Given the description of an element on the screen output the (x, y) to click on. 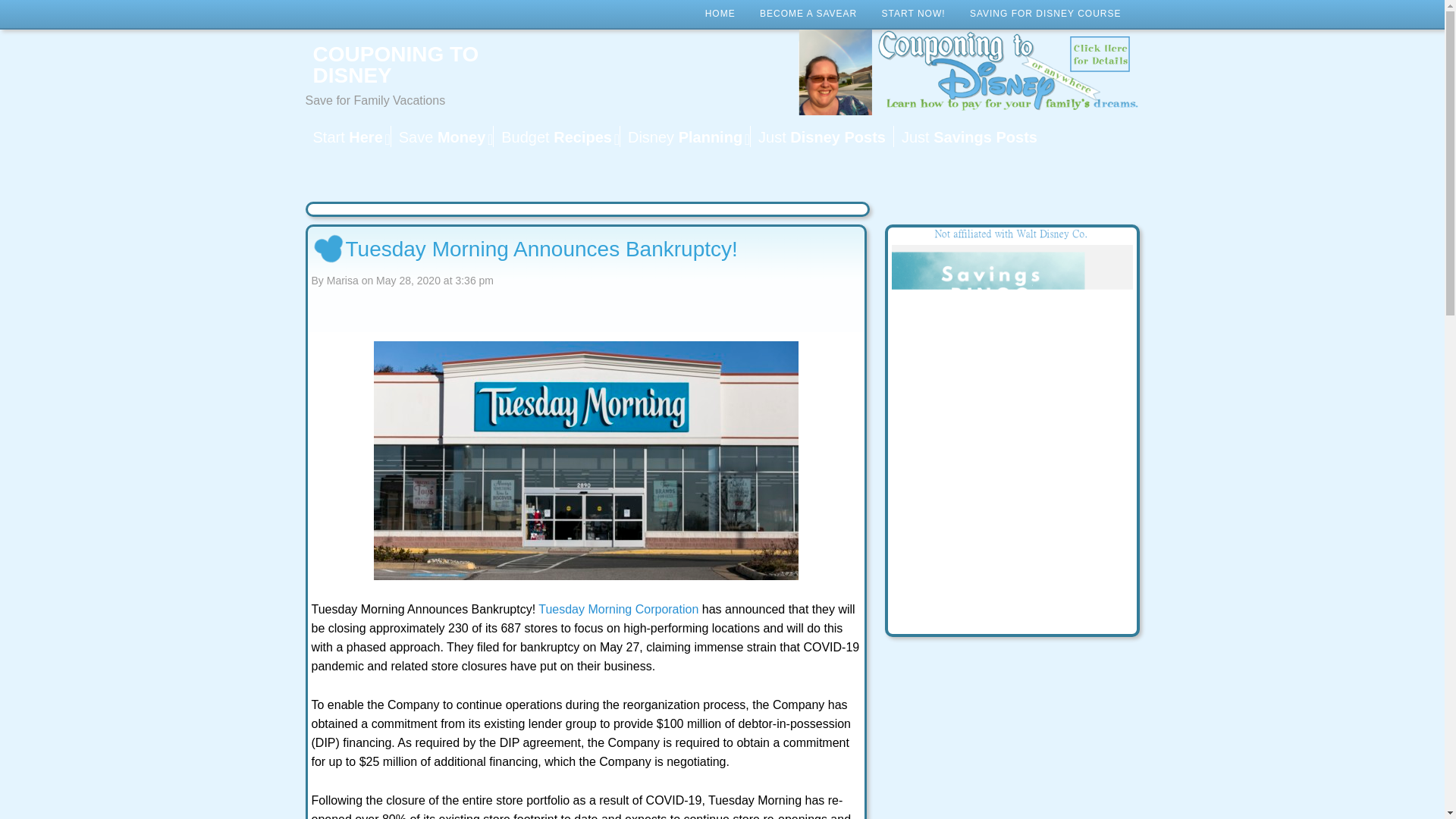
BECOME A SAVEAR (808, 13)
COUPONING TO DISNEY (425, 64)
Disney Planning (684, 136)
money (441, 136)
Start Here (347, 136)
Start Here  (347, 136)
SAVING FOR DISNEY COURSE (1045, 13)
Budget Recipes (556, 136)
Tuesday Morning Announces Bankruptcy!  (584, 460)
